Given the description of an element on the screen output the (x, y) to click on. 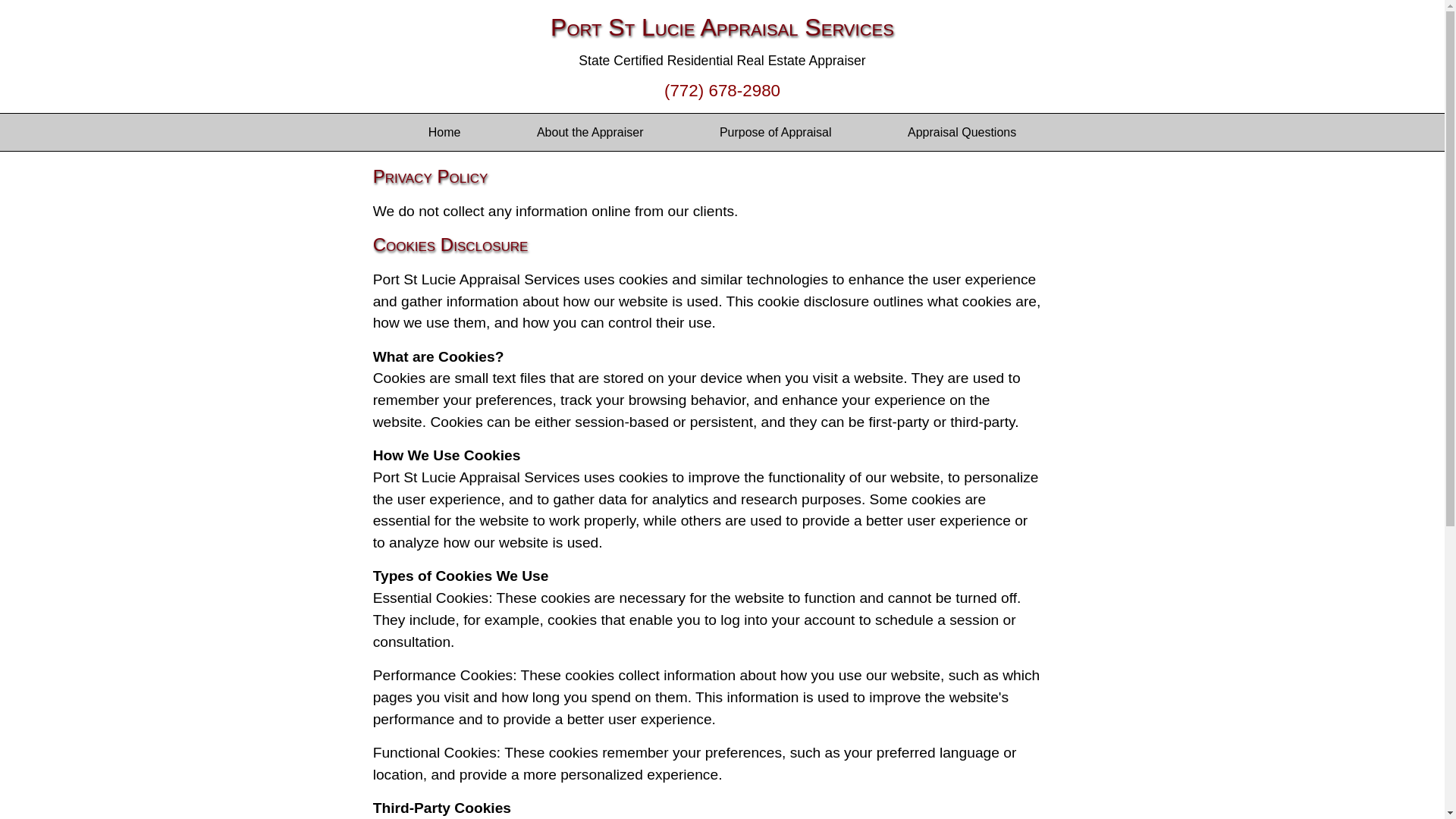
Purpose of Appraisal (774, 132)
Home (444, 132)
Appraisal Questions (961, 132)
About the Appraiser (589, 132)
